Given the description of an element on the screen output the (x, y) to click on. 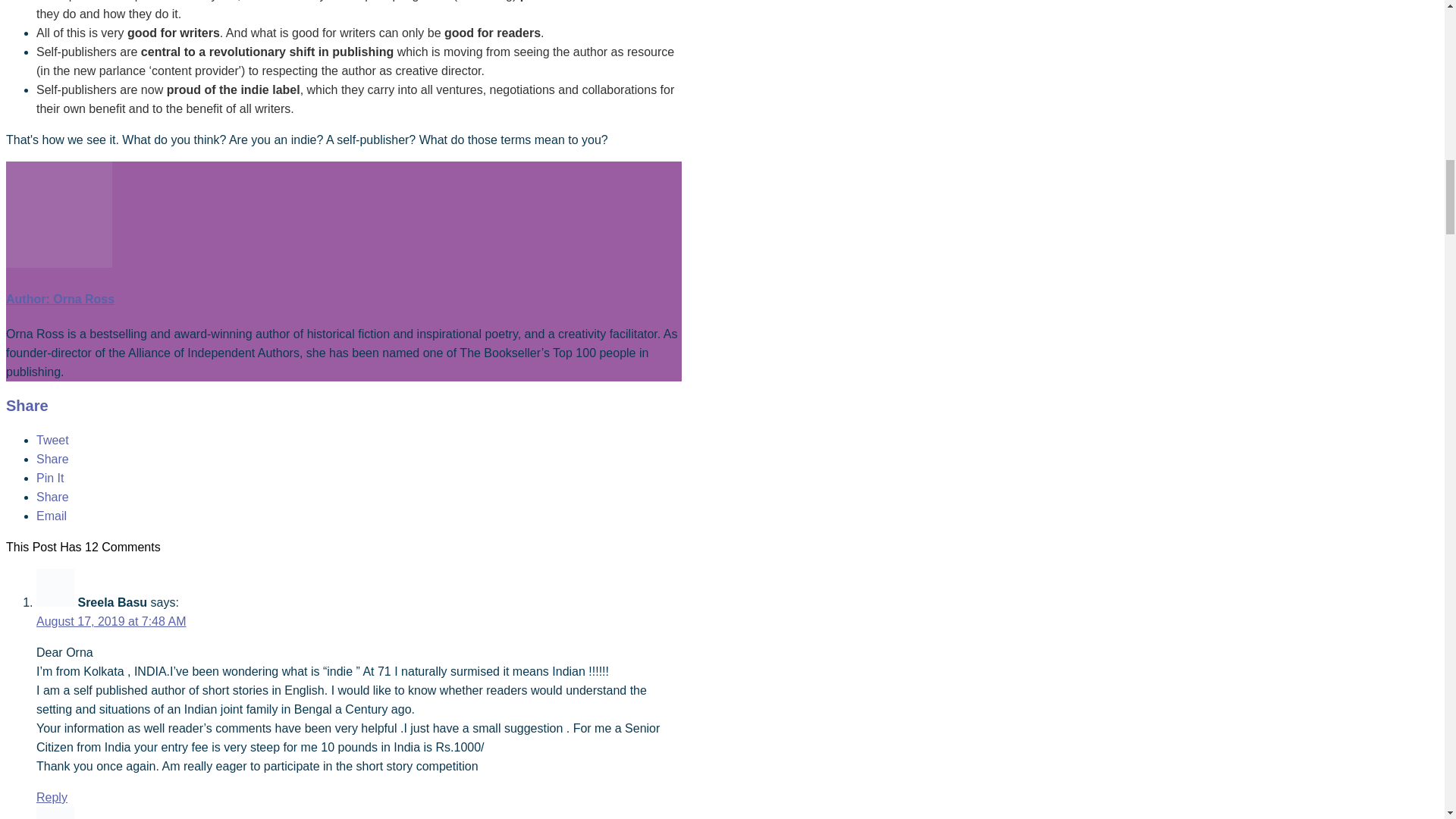
Visit Author Page (58, 263)
Visit Author Page (60, 298)
